Given the description of an element on the screen output the (x, y) to click on. 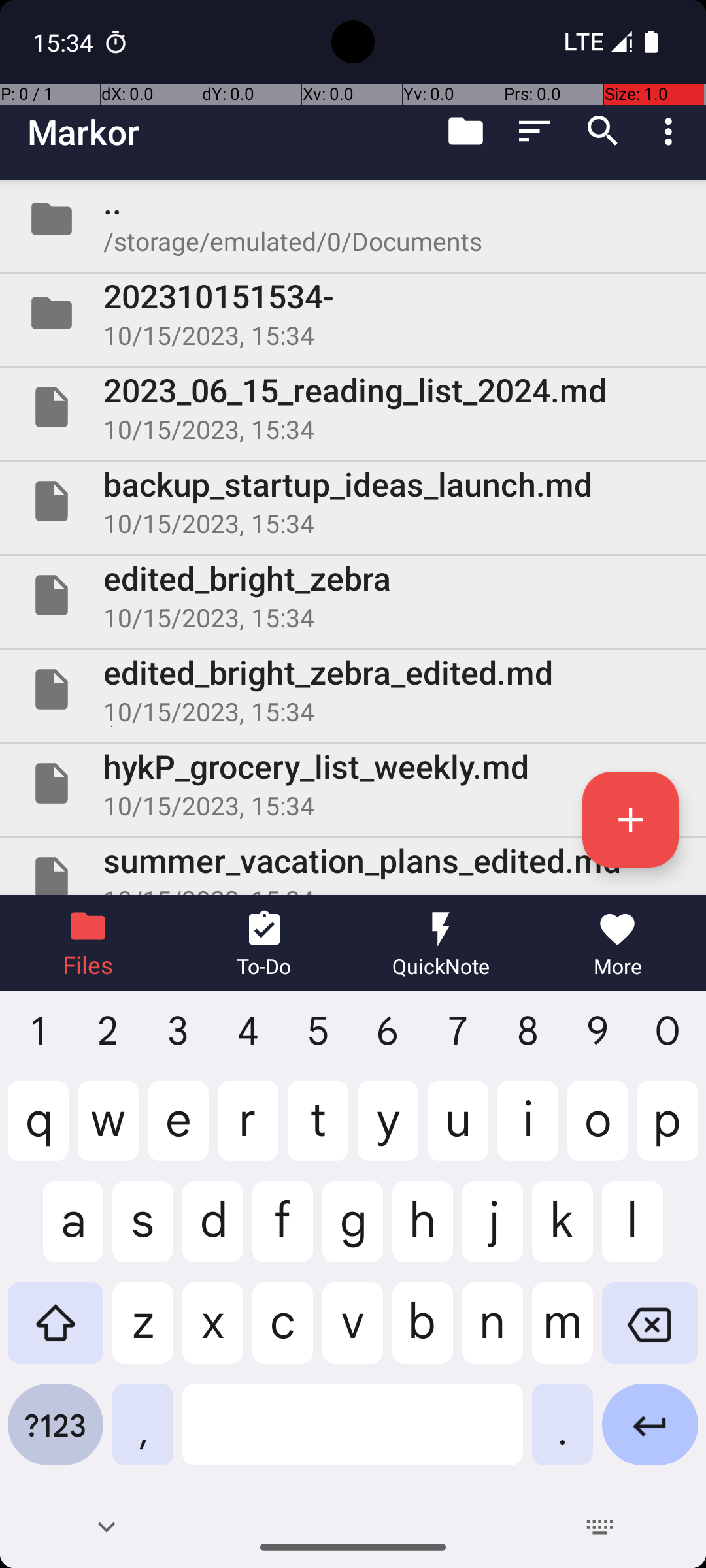
Folder .. 10/15/2023, 15:34 Element type: android.widget.LinearLayout (353, 218)
Folder 202310151534- 10/15/2023, 15:34 Element type: android.widget.LinearLayout (353, 312)
File 2023_06_15_reading_list_2024.md 10/15/2023, 15:34 Element type: android.widget.LinearLayout (353, 406)
File backup_startup_ideas_launch.md 10/15/2023, 15:34 Element type: android.widget.LinearLayout (353, 500)
File edited_bright_zebra 10/15/2023, 15:34 Element type: android.widget.LinearLayout (353, 594)
File edited_bright_zebra_edited.md  Element type: android.widget.LinearLayout (353, 689)
File hykP_grocery_list_weekly.md  Element type: android.widget.LinearLayout (353, 783)
File summer_vacation_plans_edited.md  Element type: android.widget.LinearLayout (353, 866)
